Given the description of an element on the screen output the (x, y) to click on. 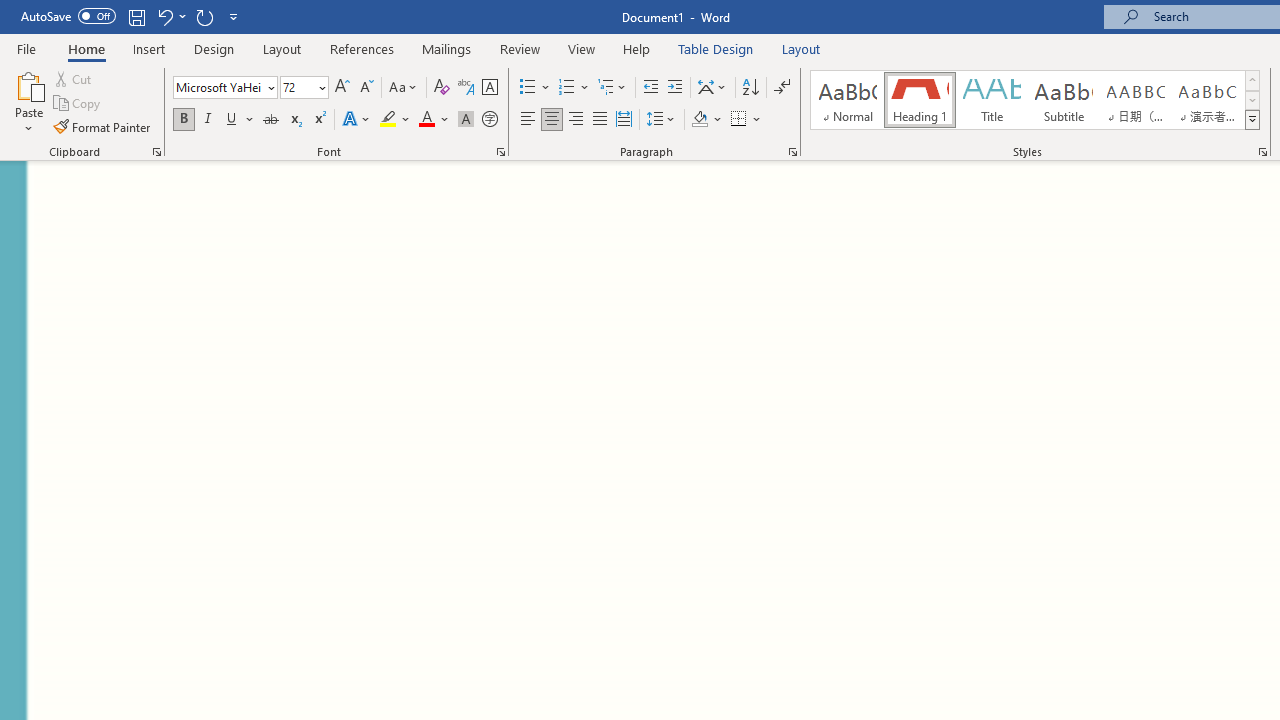
Subtitle (1063, 100)
Bullets (535, 87)
Font... (500, 151)
Asian Layout (712, 87)
Design (214, 48)
Row up (1252, 79)
Distributed (623, 119)
Decrease Indent (650, 87)
Align Right (575, 119)
Heading 1 (920, 100)
